Given the description of an element on the screen output the (x, y) to click on. 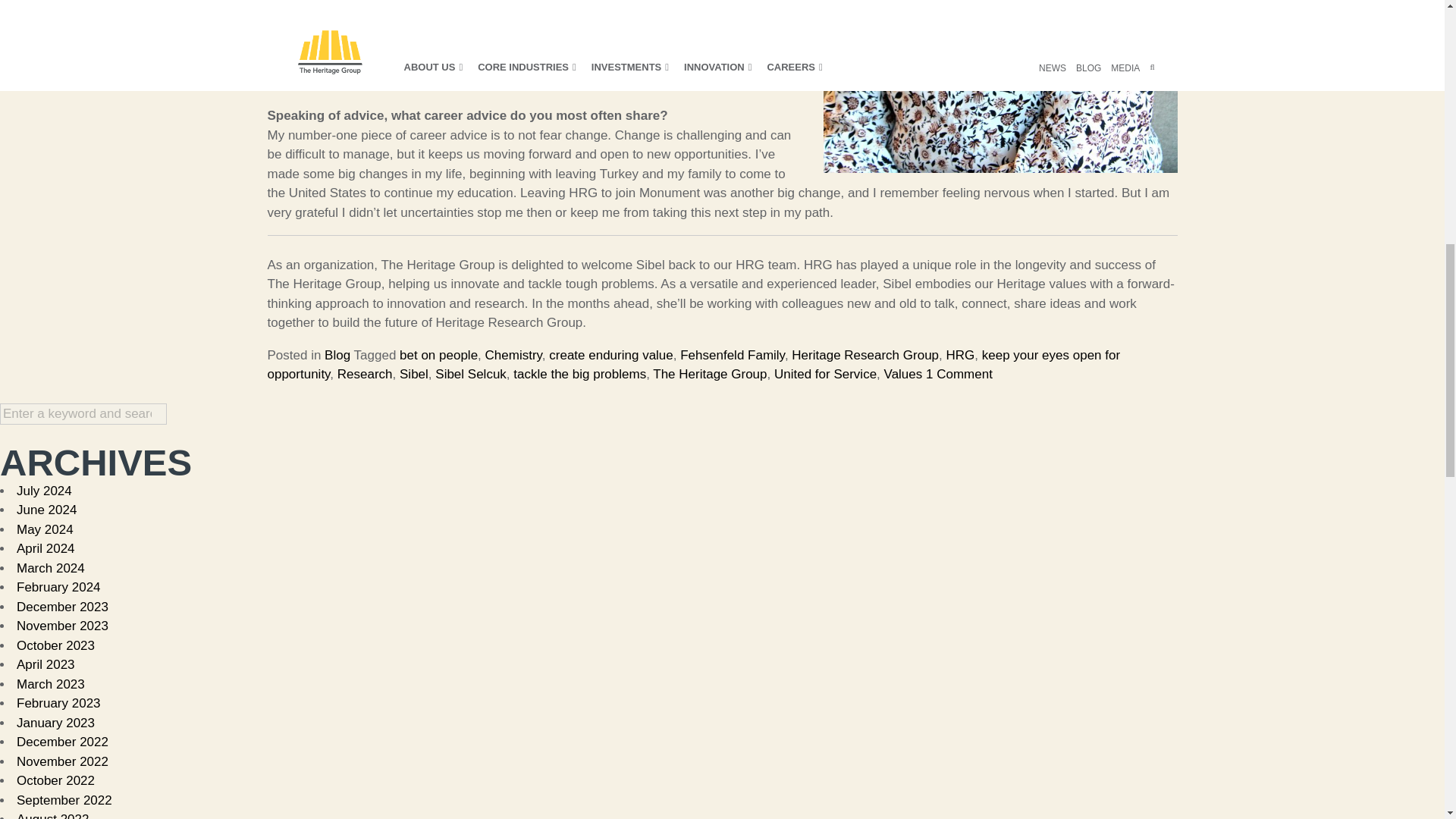
bet on people (437, 354)
Blog (337, 354)
Fehsenfeld Family (731, 354)
Search for: (83, 414)
create enduring value (610, 354)
Chemistry (512, 354)
